Given the description of an element on the screen output the (x, y) to click on. 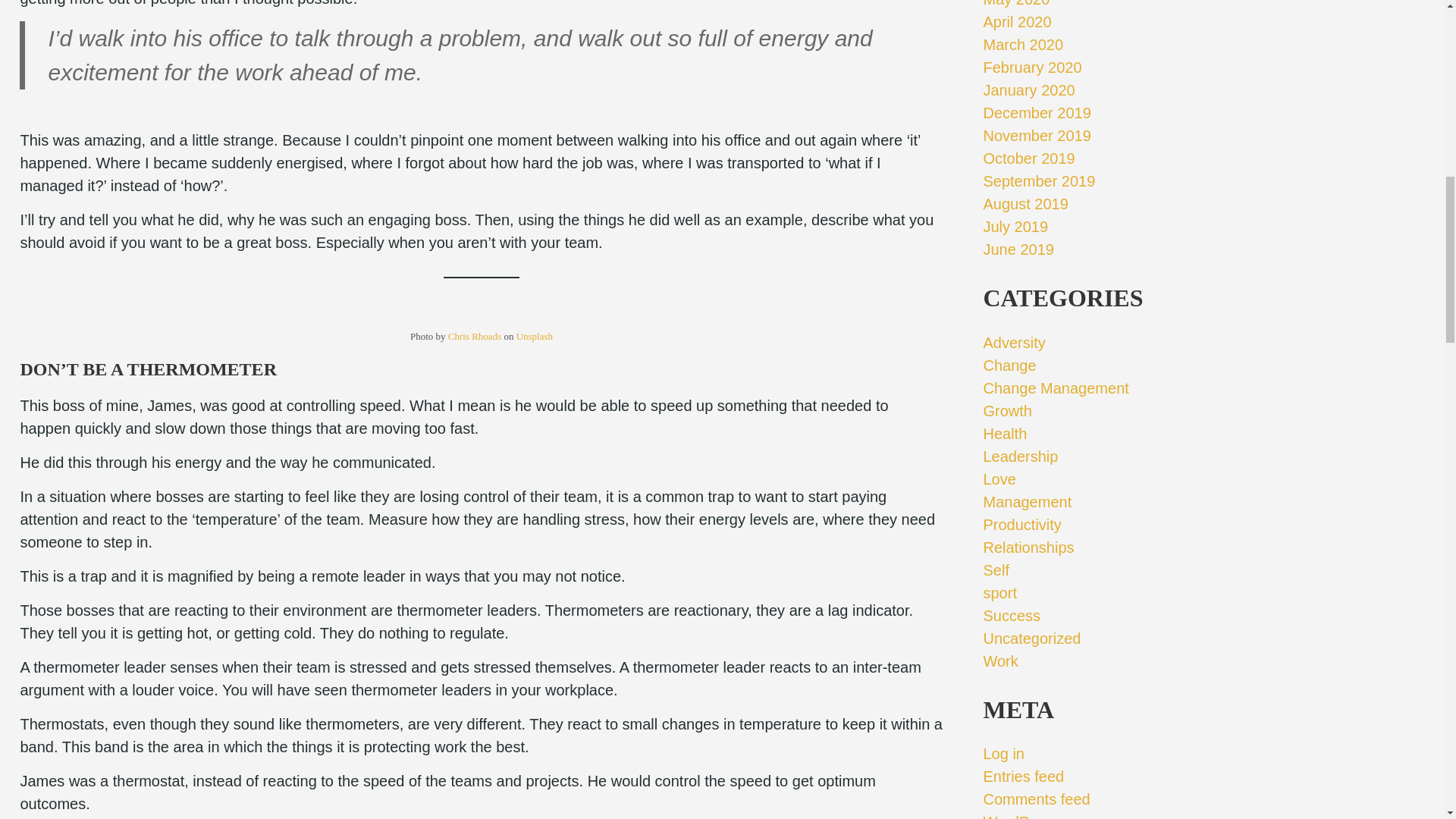
May 2020 (1015, 3)
December 2019 (1036, 112)
Chris Rhoads (474, 336)
April 2020 (1016, 21)
March 2020 (1022, 44)
January 2020 (1028, 89)
October 2019 (1028, 158)
November 2019 (1036, 135)
February 2020 (1031, 67)
Unsplash (534, 336)
